Given the description of an element on the screen output the (x, y) to click on. 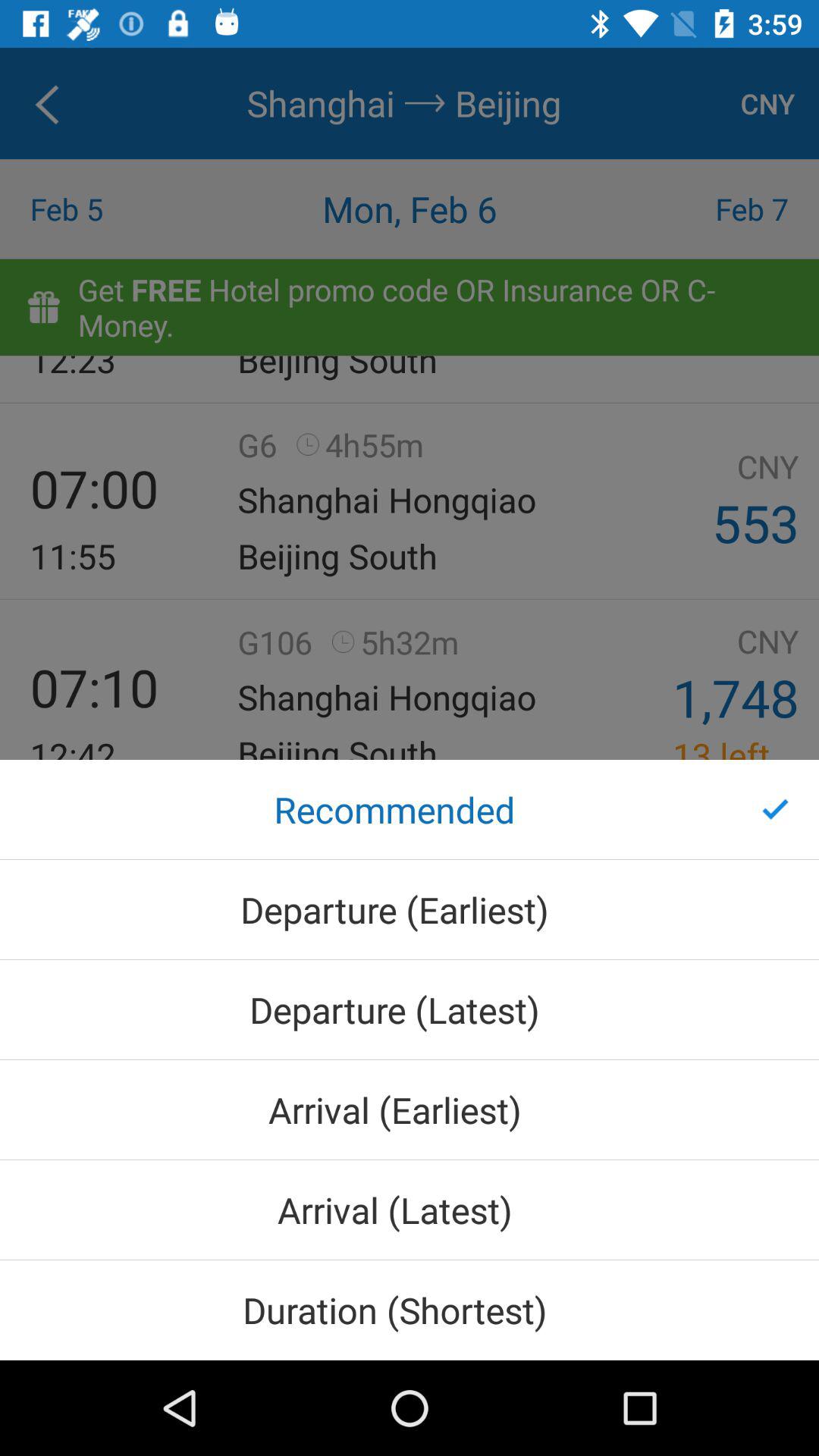
flip to the departure (earliest) icon (409, 909)
